Given the description of an element on the screen output the (x, y) to click on. 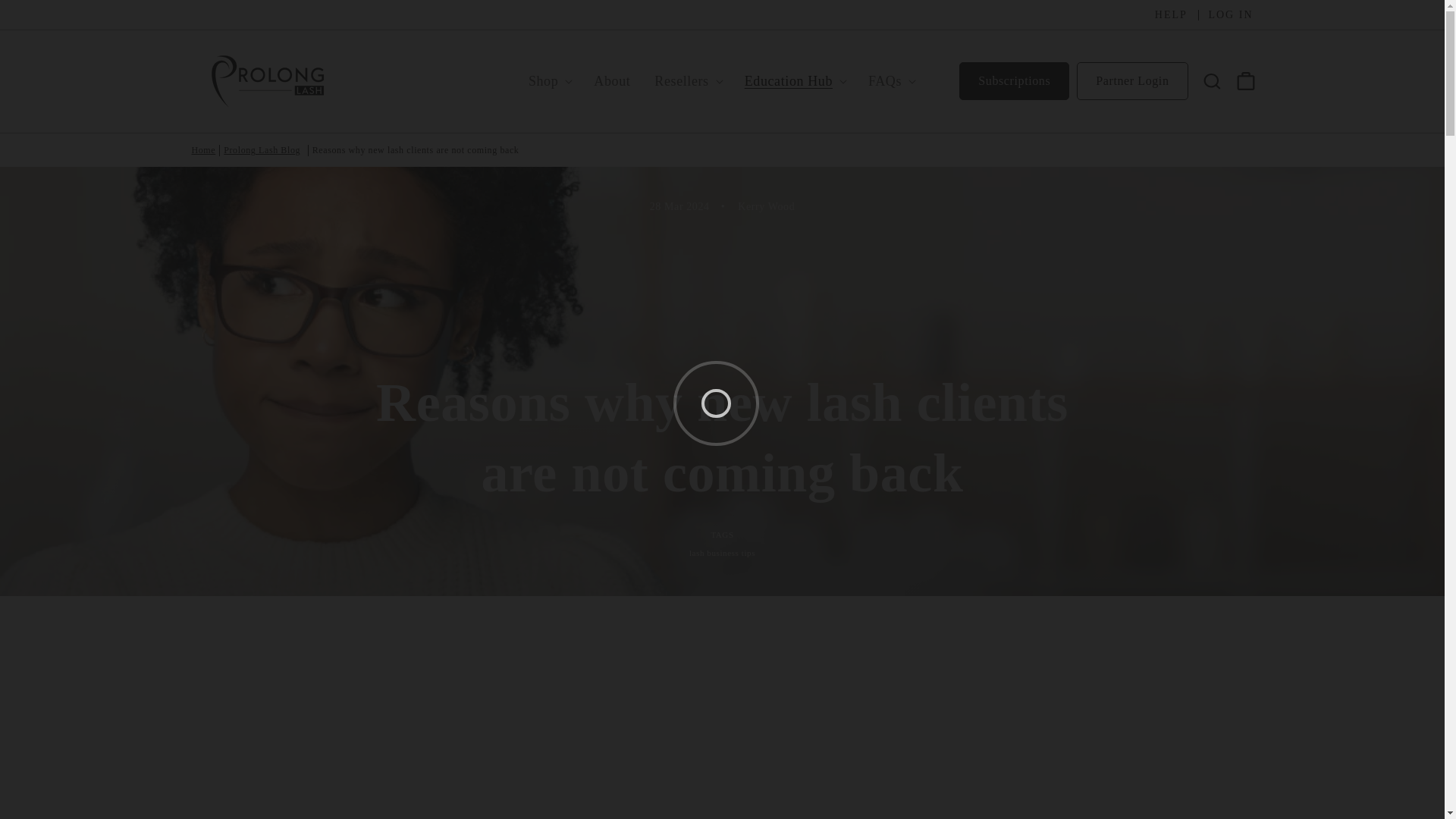
HELP (1171, 14)
LOG IN (1225, 14)
About (608, 81)
YouTube video player (721, 719)
Skip to content (45, 17)
